Given the description of an element on the screen output the (x, y) to click on. 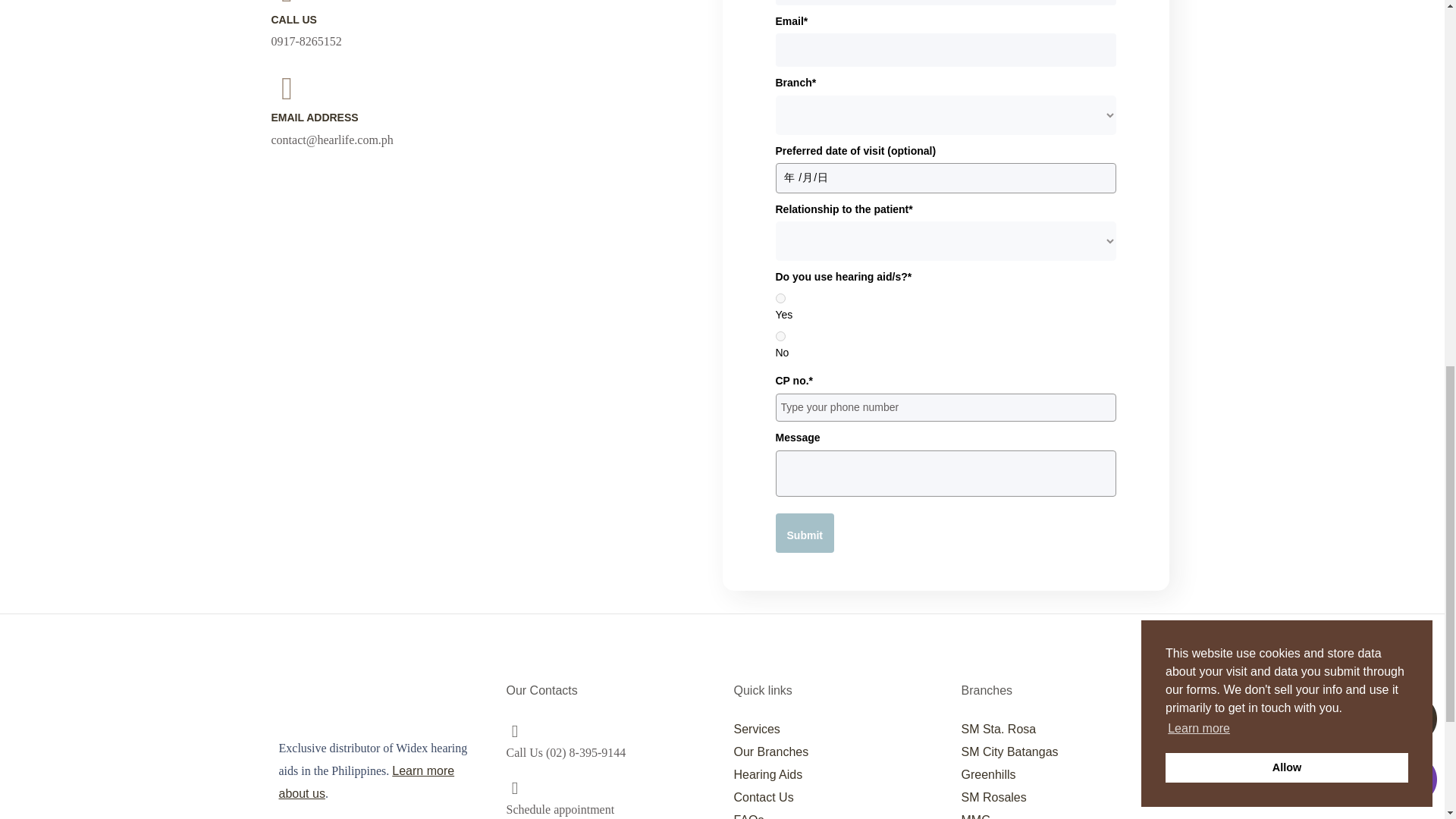
No (779, 336)
About Us (366, 782)
Yes (779, 298)
